Given the description of an element on the screen output the (x, y) to click on. 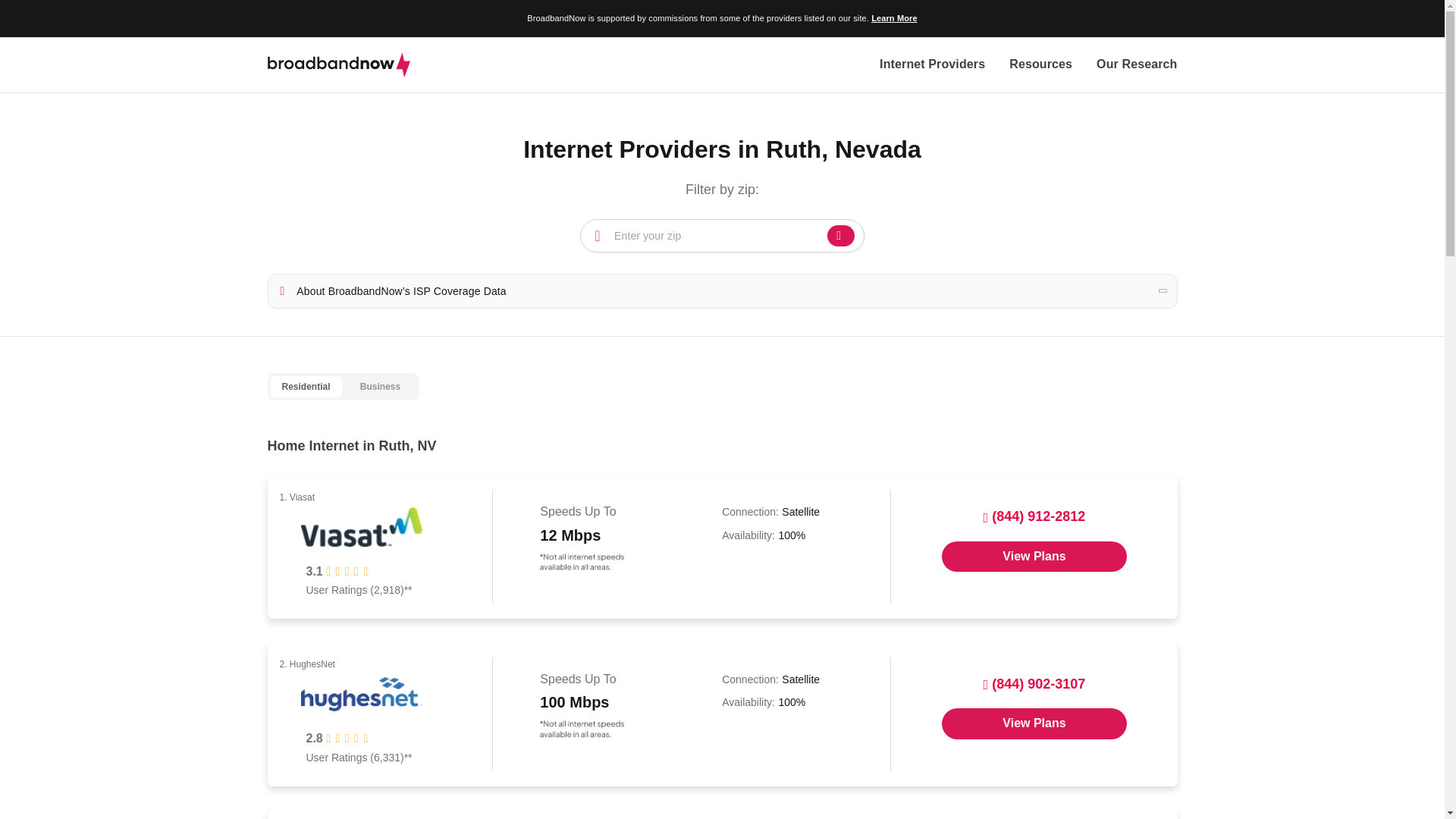
Our Research (1136, 64)
Internet Providers (932, 64)
Learn More (893, 17)
Opens in a new window (1034, 723)
Resources (1040, 64)
Opens in a new window (1034, 556)
Residential (305, 386)
